Given the description of an element on the screen output the (x, y) to click on. 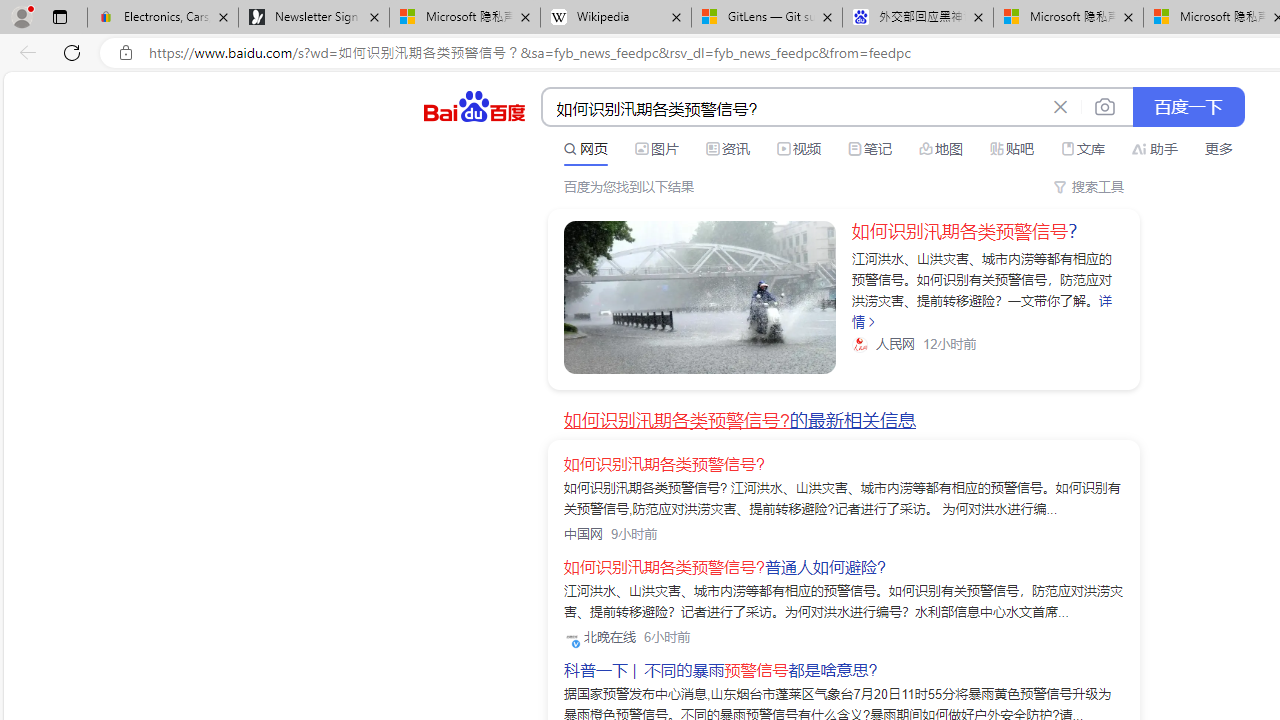
AutomationID: kw (793, 107)
